Given the description of an element on the screen output the (x, y) to click on. 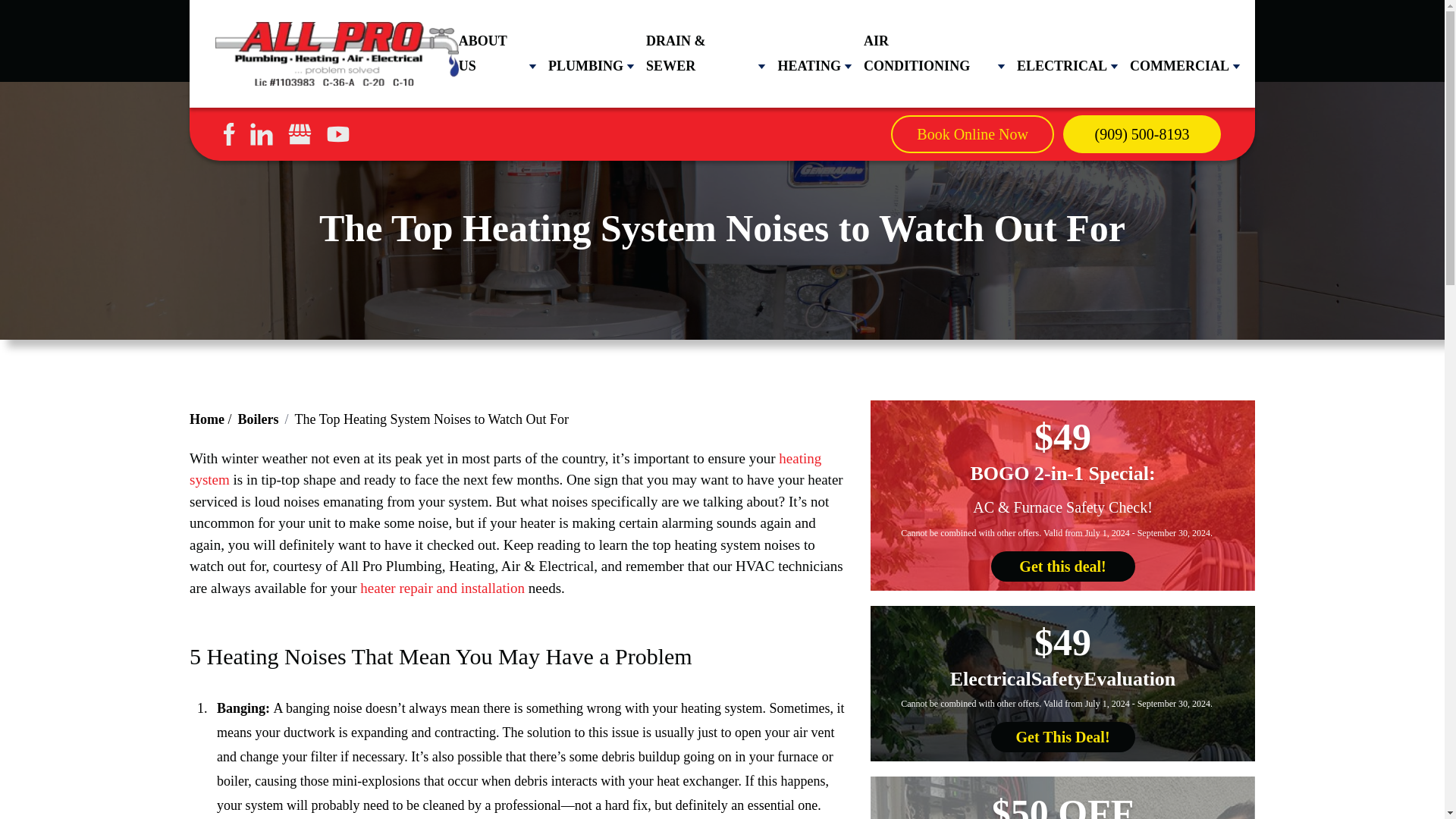
ABOUT US (491, 53)
PLUMBING (585, 66)
AIR CONDITIONING (928, 53)
HEATING (809, 66)
